Given the description of an element on the screen output the (x, y) to click on. 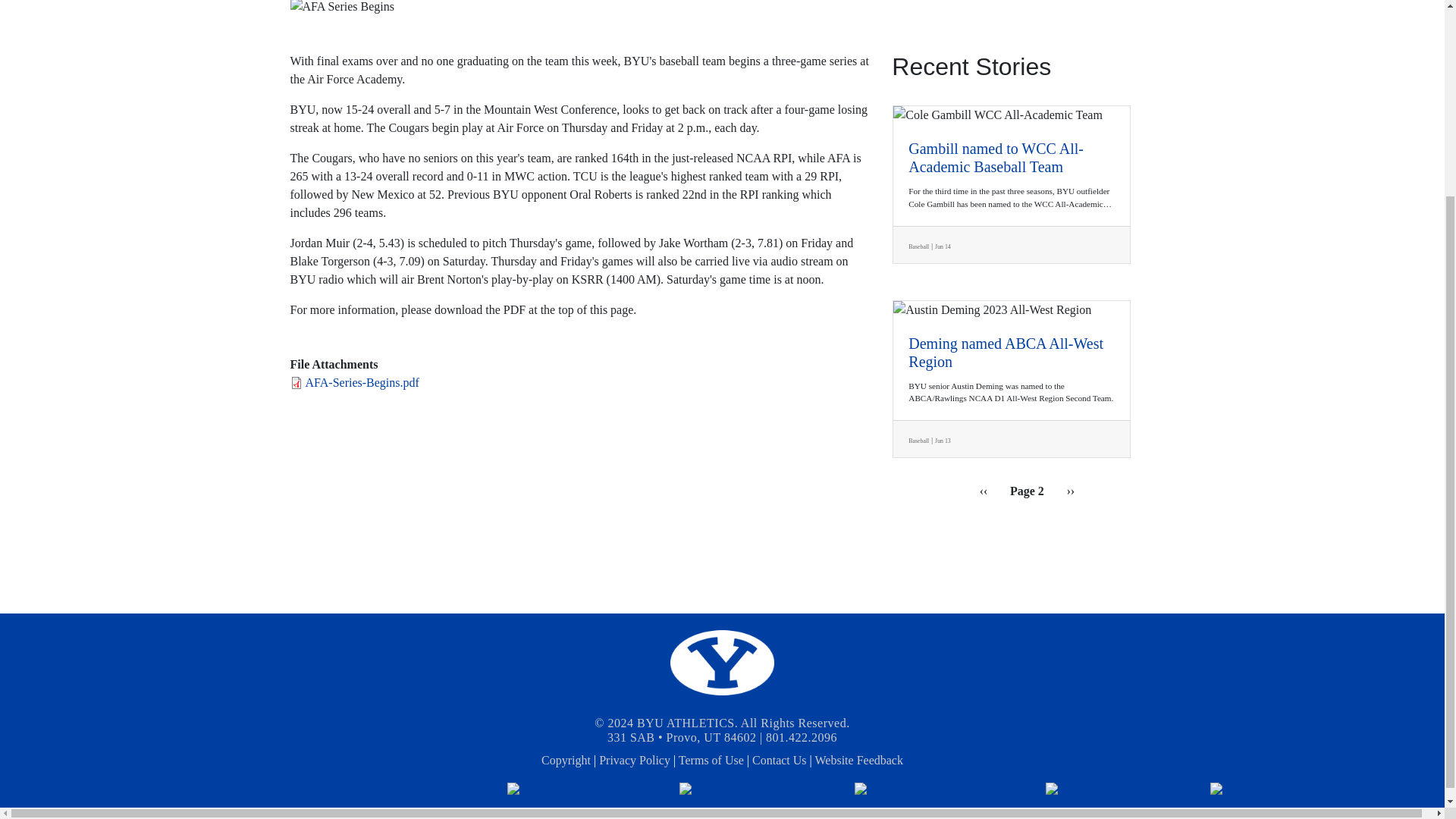
Go to previous page (984, 490)
AFA Series Begins (721, 7)
Go to next page (1070, 490)
